Given the description of an element on the screen output the (x, y) to click on. 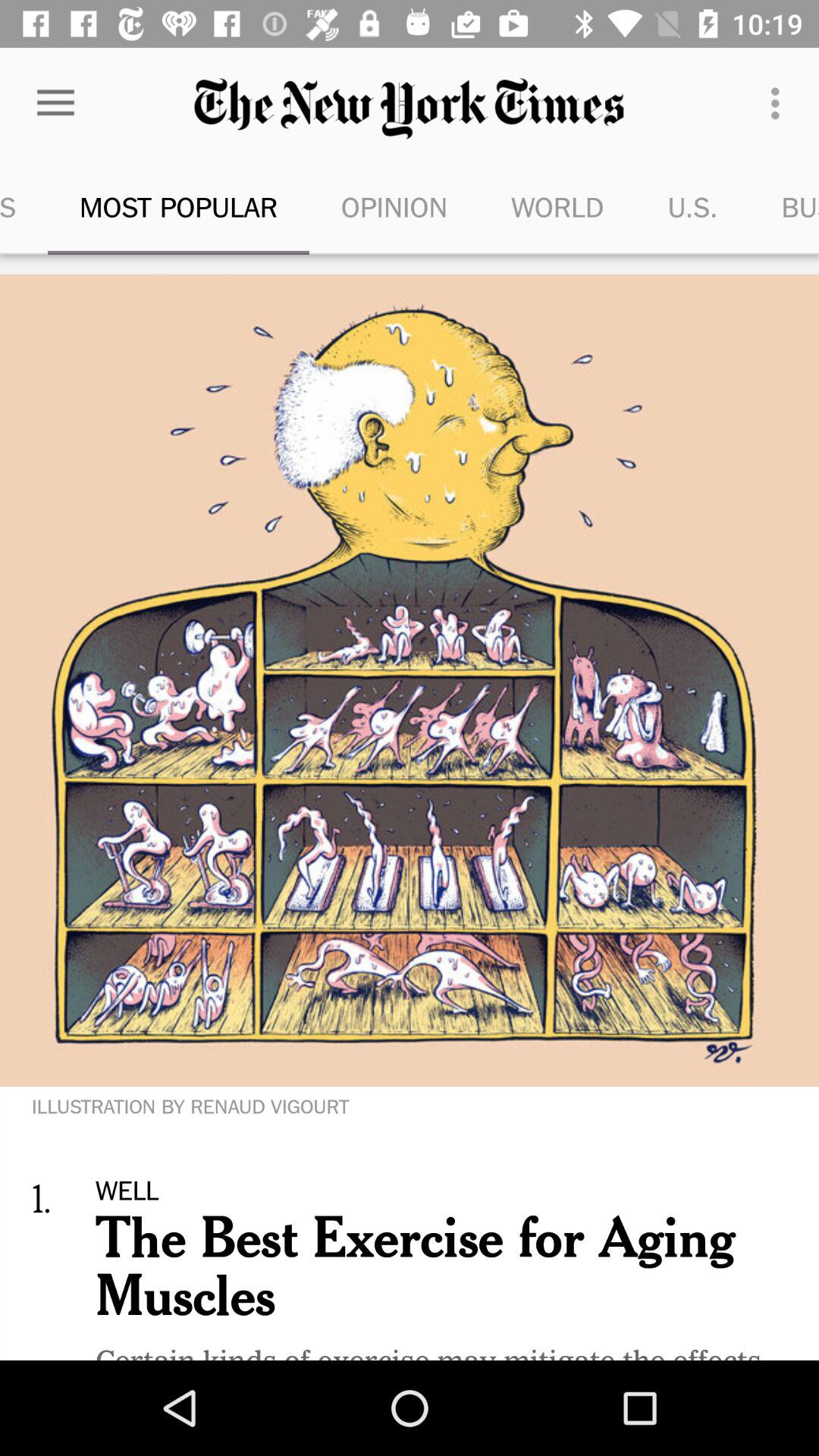
select most popular (178, 206)
click on us (693, 206)
click on opinion option (394, 206)
select the button which is above bu (779, 103)
select the button which is below the menu button (784, 206)
